Given the description of an element on the screen output the (x, y) to click on. 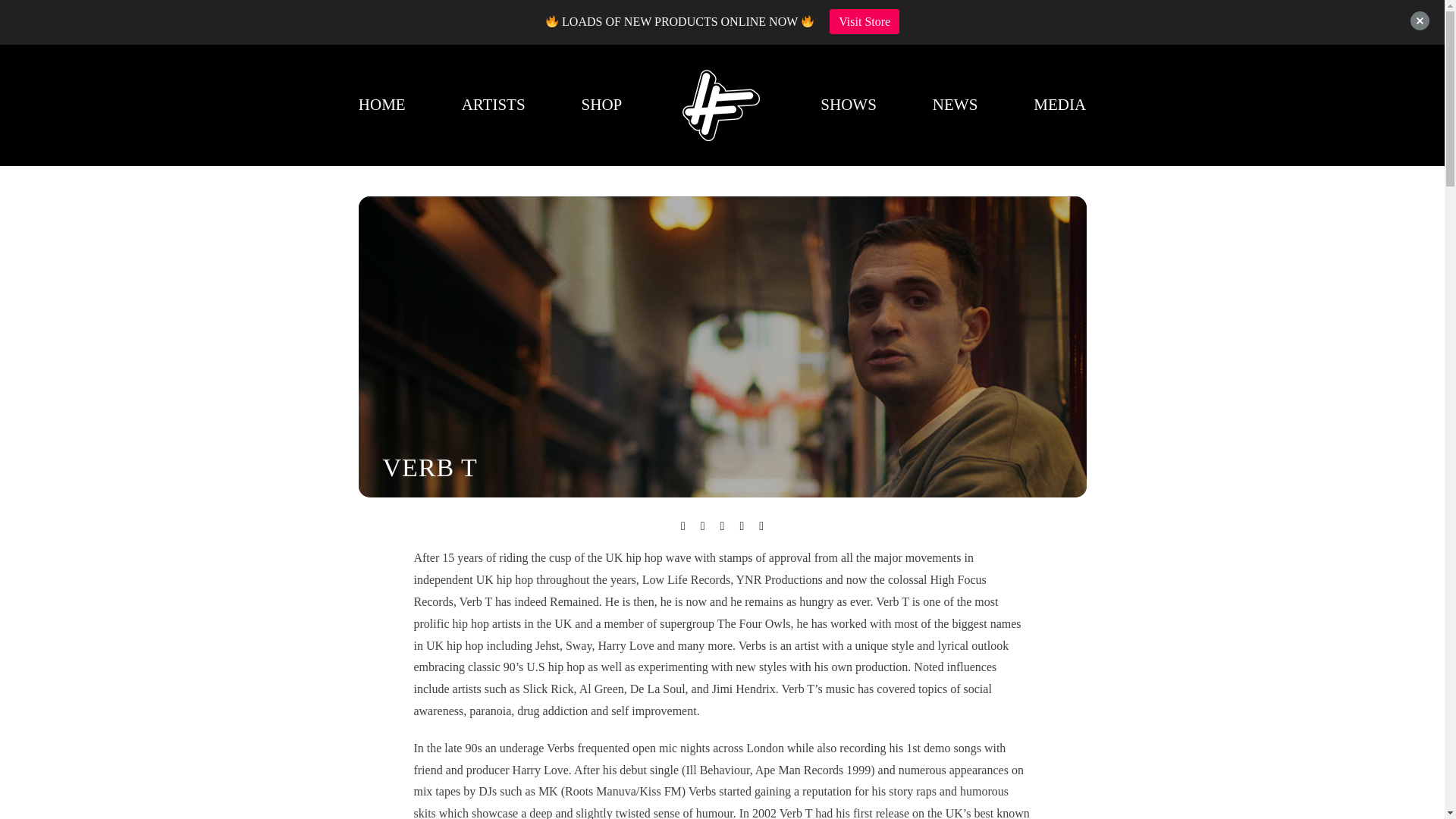
ARTISTS (493, 105)
